Given the description of an element on the screen output the (x, y) to click on. 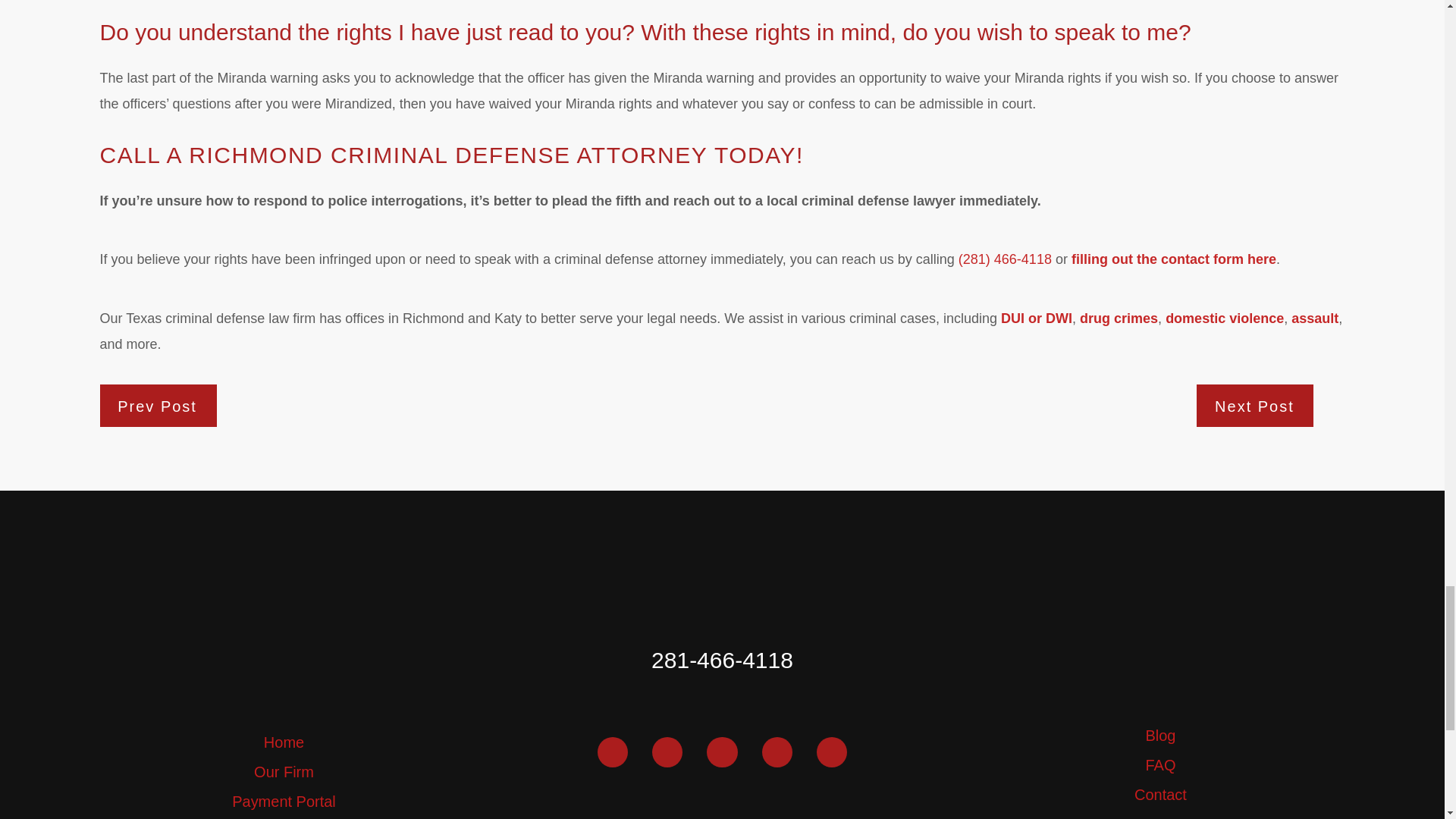
Avvo (776, 752)
Facebook (611, 752)
YouTube (721, 752)
LinkedIn (667, 752)
Yelp (831, 752)
